Given the description of an element on the screen output the (x, y) to click on. 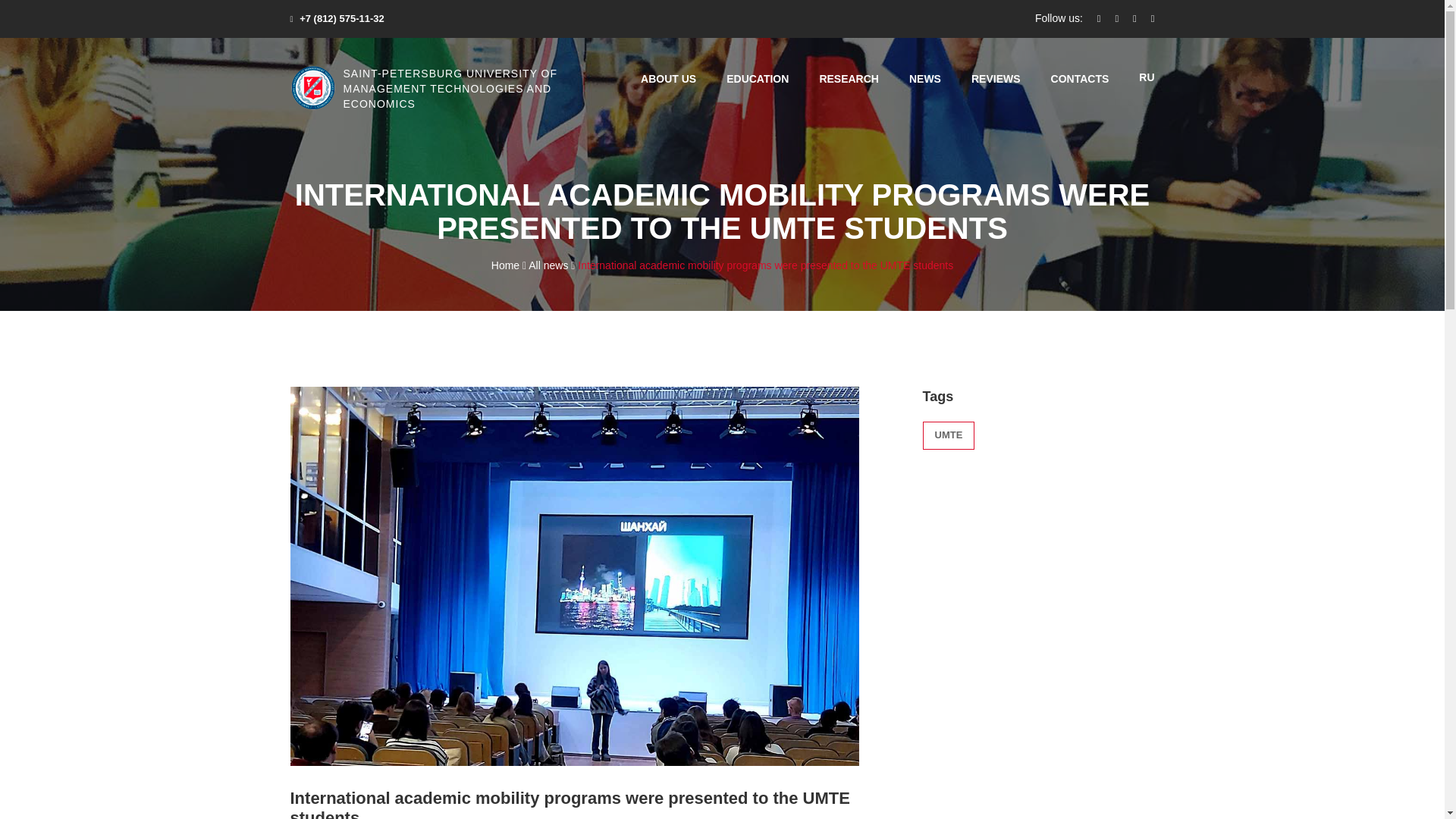
CONTACTS (1080, 79)
ABOUT US (667, 79)
REVIEWS (995, 79)
EDUCATION (757, 79)
RESEARCH (848, 79)
All news (551, 265)
Home (508, 265)
